Given the description of an element on the screen output the (x, y) to click on. 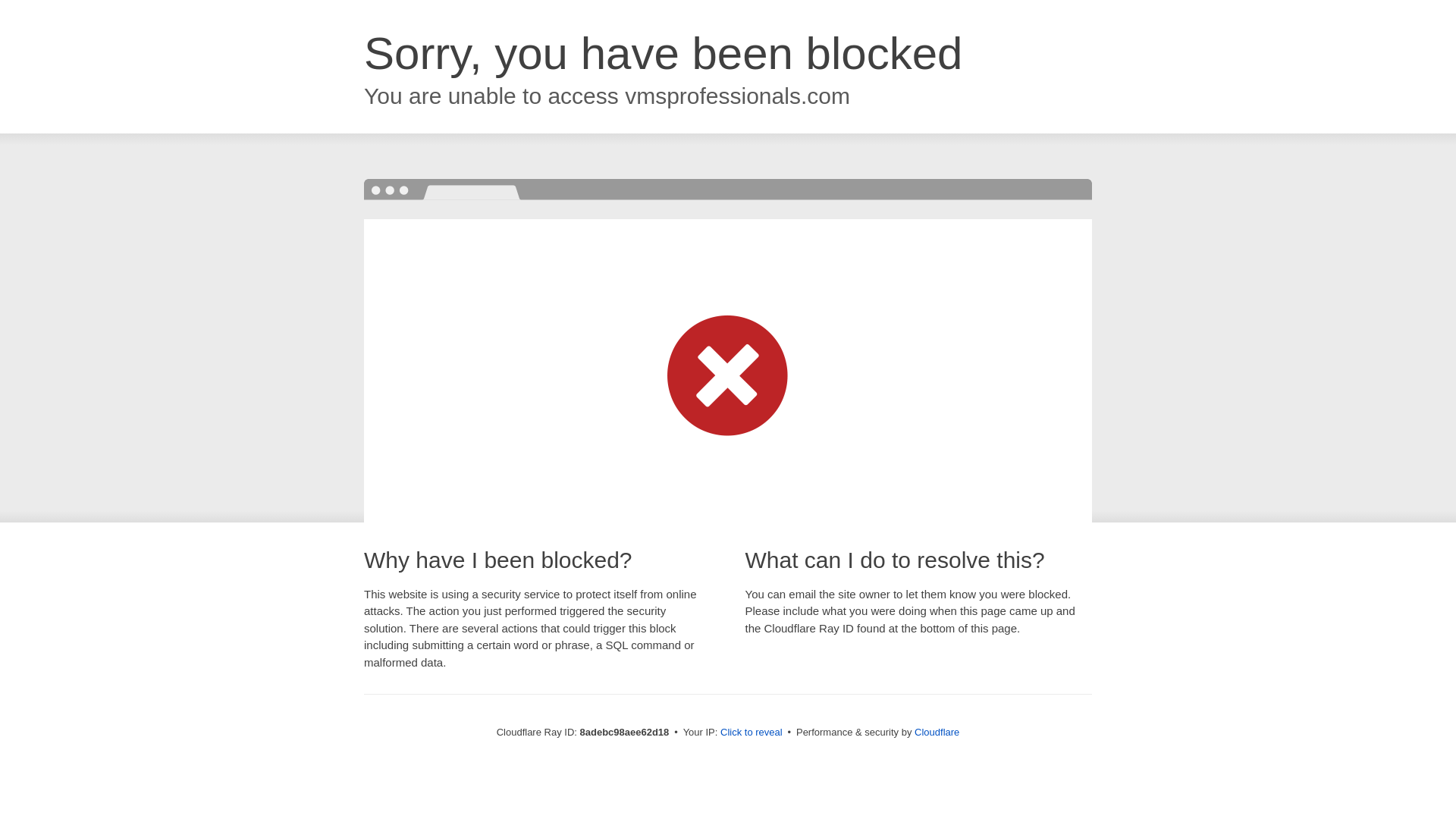
Click to reveal (751, 732)
Cloudflare (936, 731)
